Given the description of an element on the screen output the (x, y) to click on. 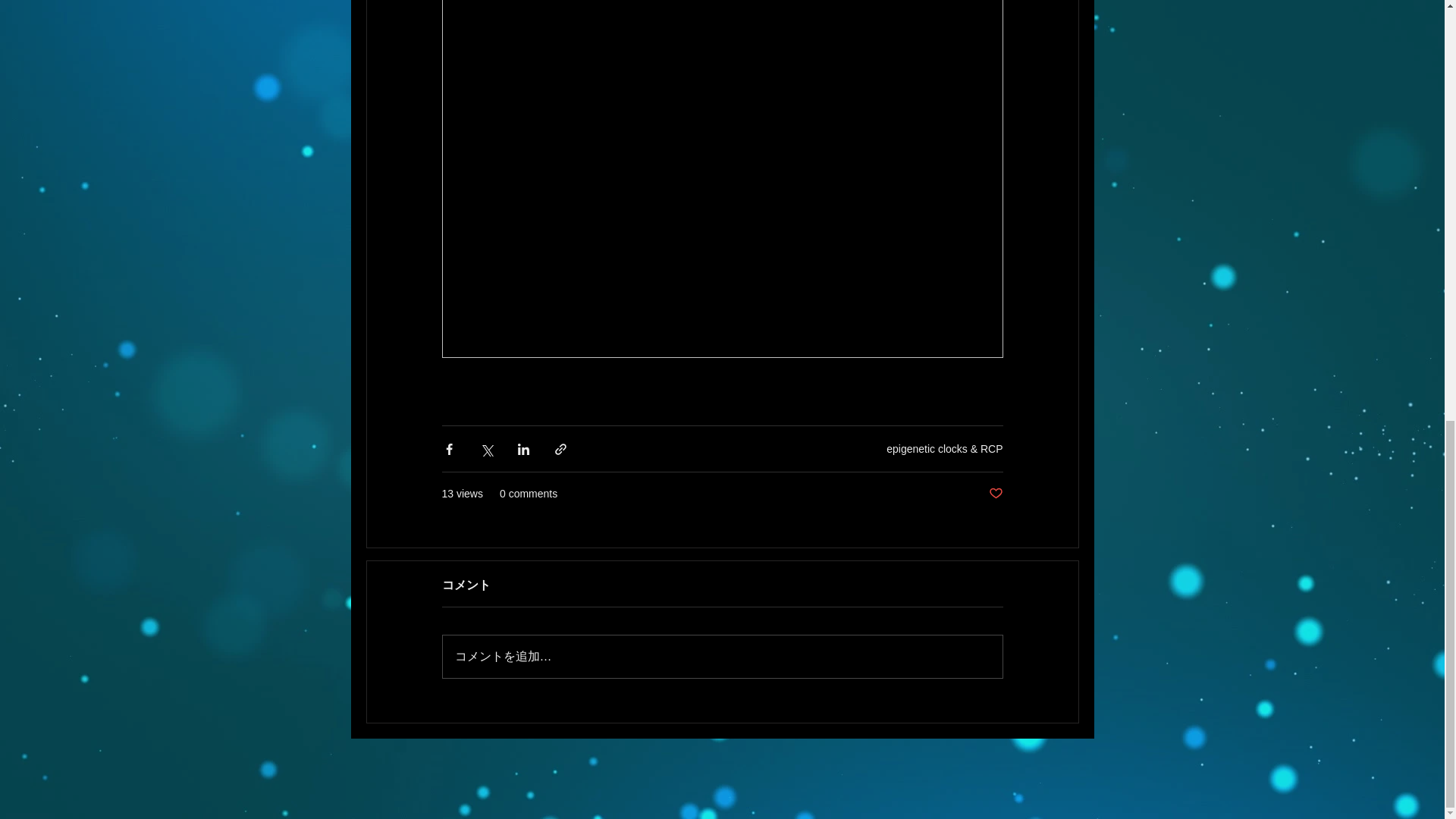
Post not marked as liked (995, 494)
